Given the description of an element on the screen output the (x, y) to click on. 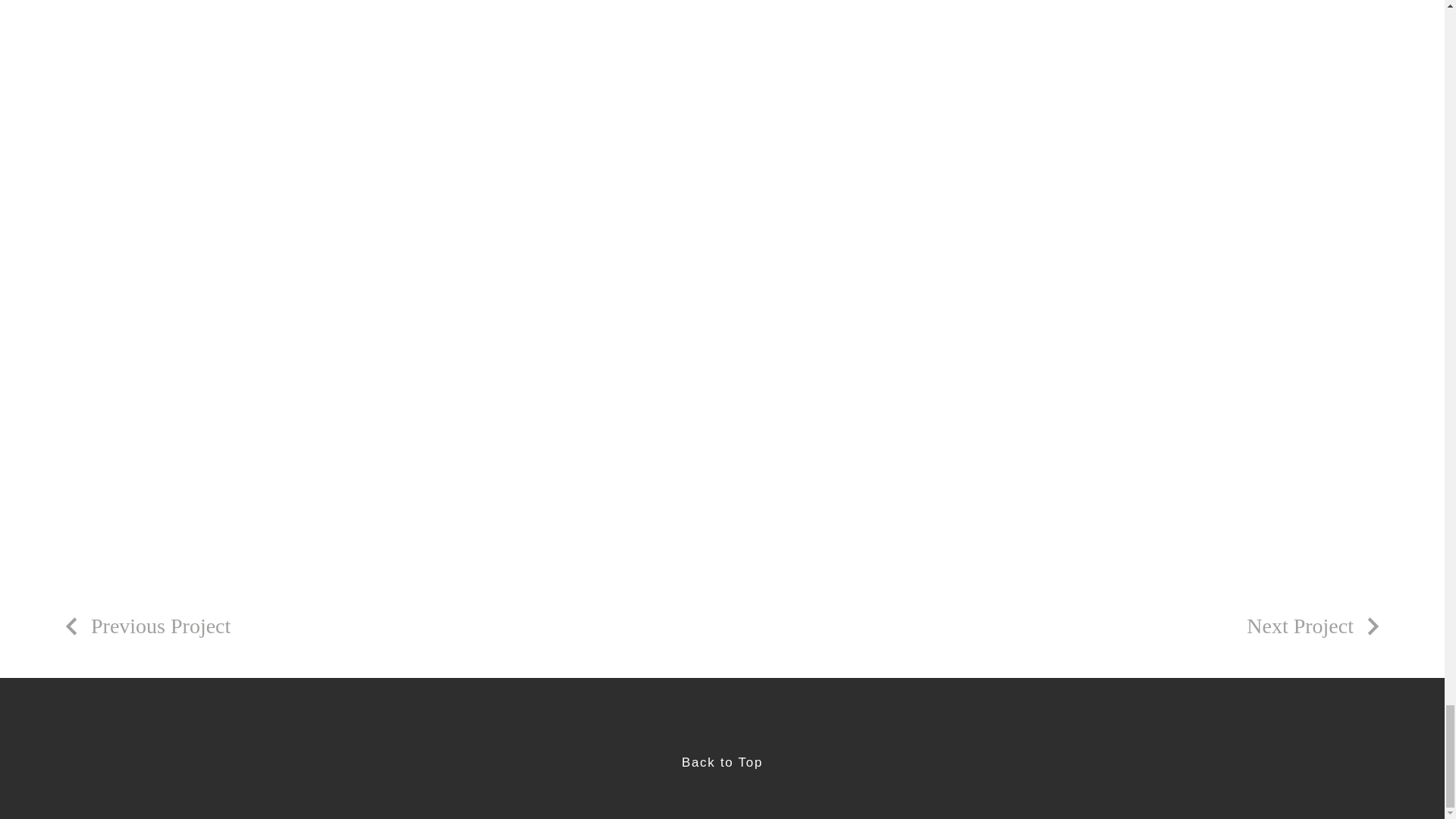
Back to Top (721, 762)
Previous Project (145, 626)
Next Project (1315, 626)
